Given the description of an element on the screen output the (x, y) to click on. 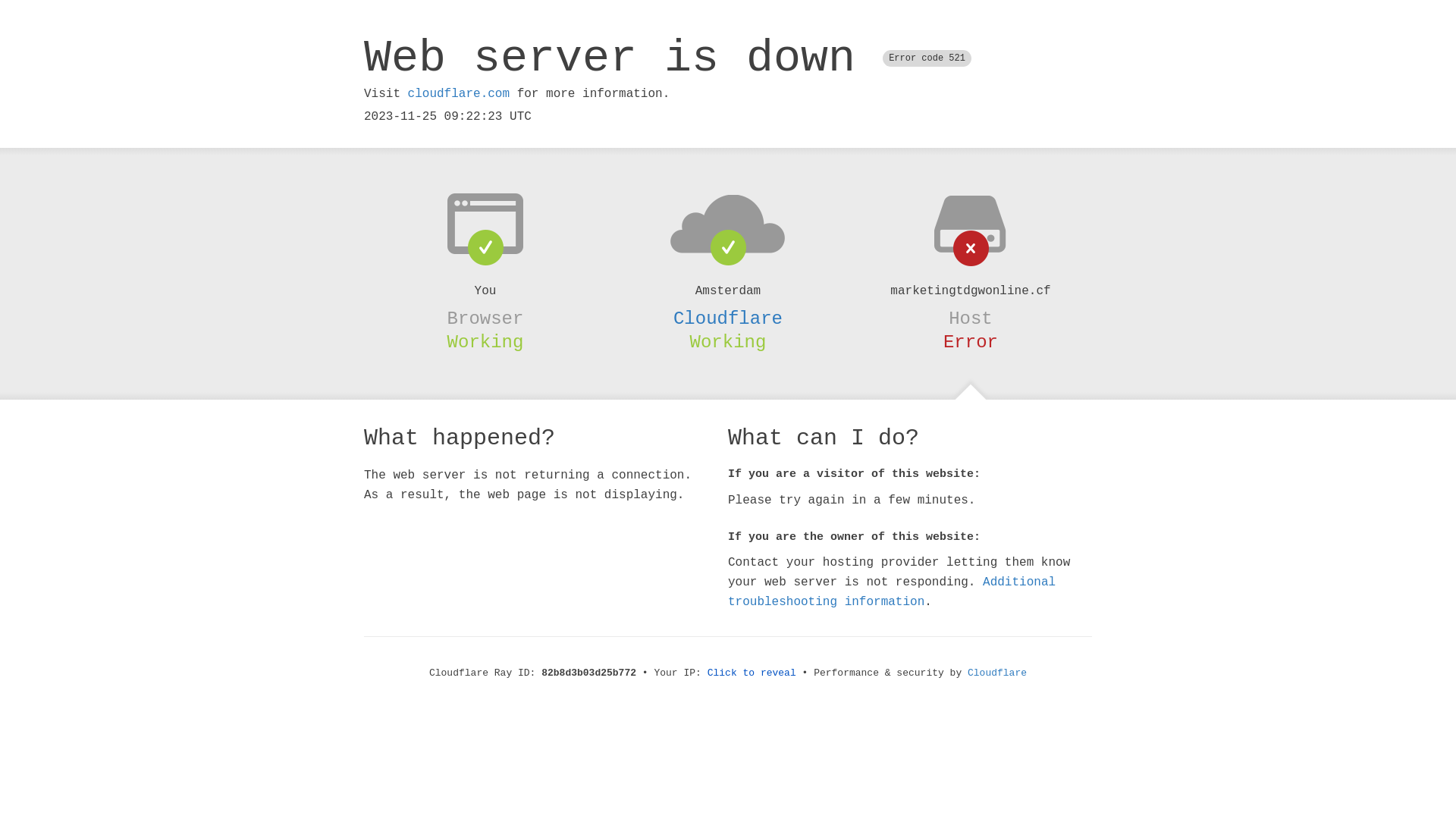
cloudflare.com Element type: text (458, 93)
Cloudflare Element type: text (727, 318)
Cloudflare Element type: text (996, 672)
Additional troubleshooting information Element type: text (891, 591)
Click to reveal Element type: text (751, 672)
